Given the description of an element on the screen output the (x, y) to click on. 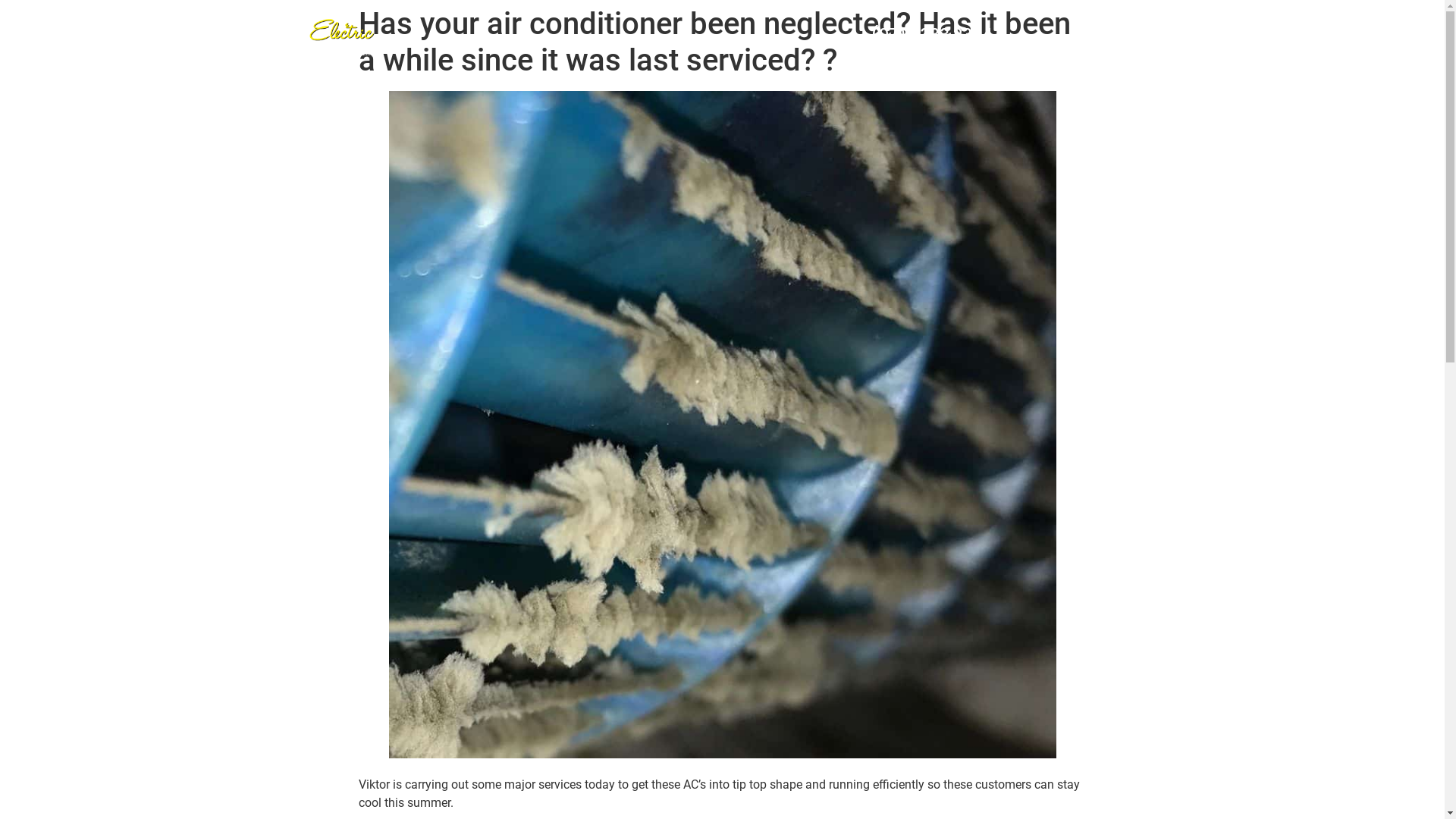
(07) 3333 2334 Element type: text (931, 34)
